Given the description of an element on the screen output the (x, y) to click on. 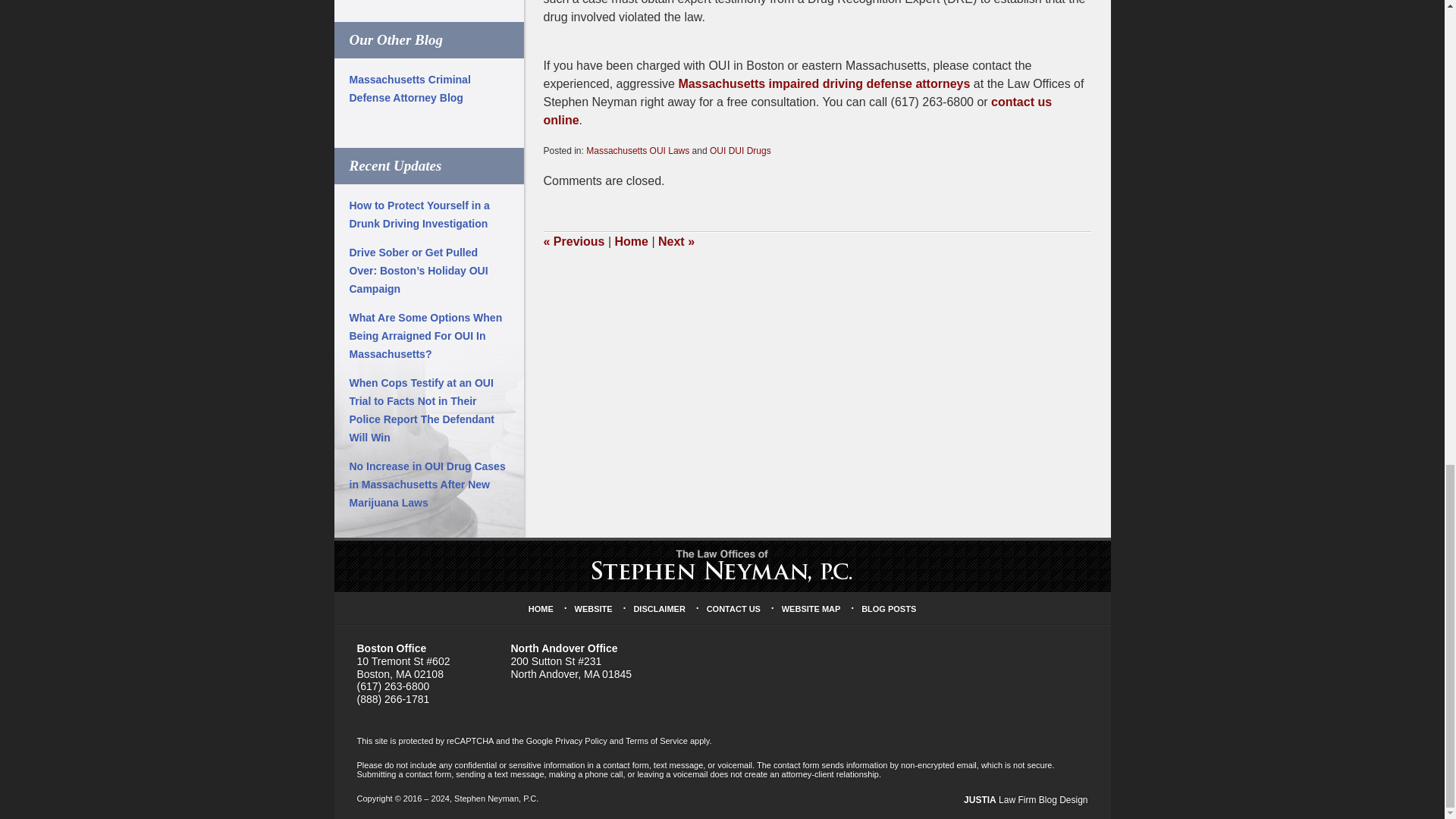
OUI DUI Drugs (740, 150)
View all posts in Massachusetts OUI Laws (637, 150)
contact us online (797, 110)
Massachusetts impaired driving defense attorneys (823, 83)
Massachusetts OUI Laws (637, 150)
View all posts in OUI DUI Drugs (740, 150)
Home (630, 241)
